Given the description of an element on the screen output the (x, y) to click on. 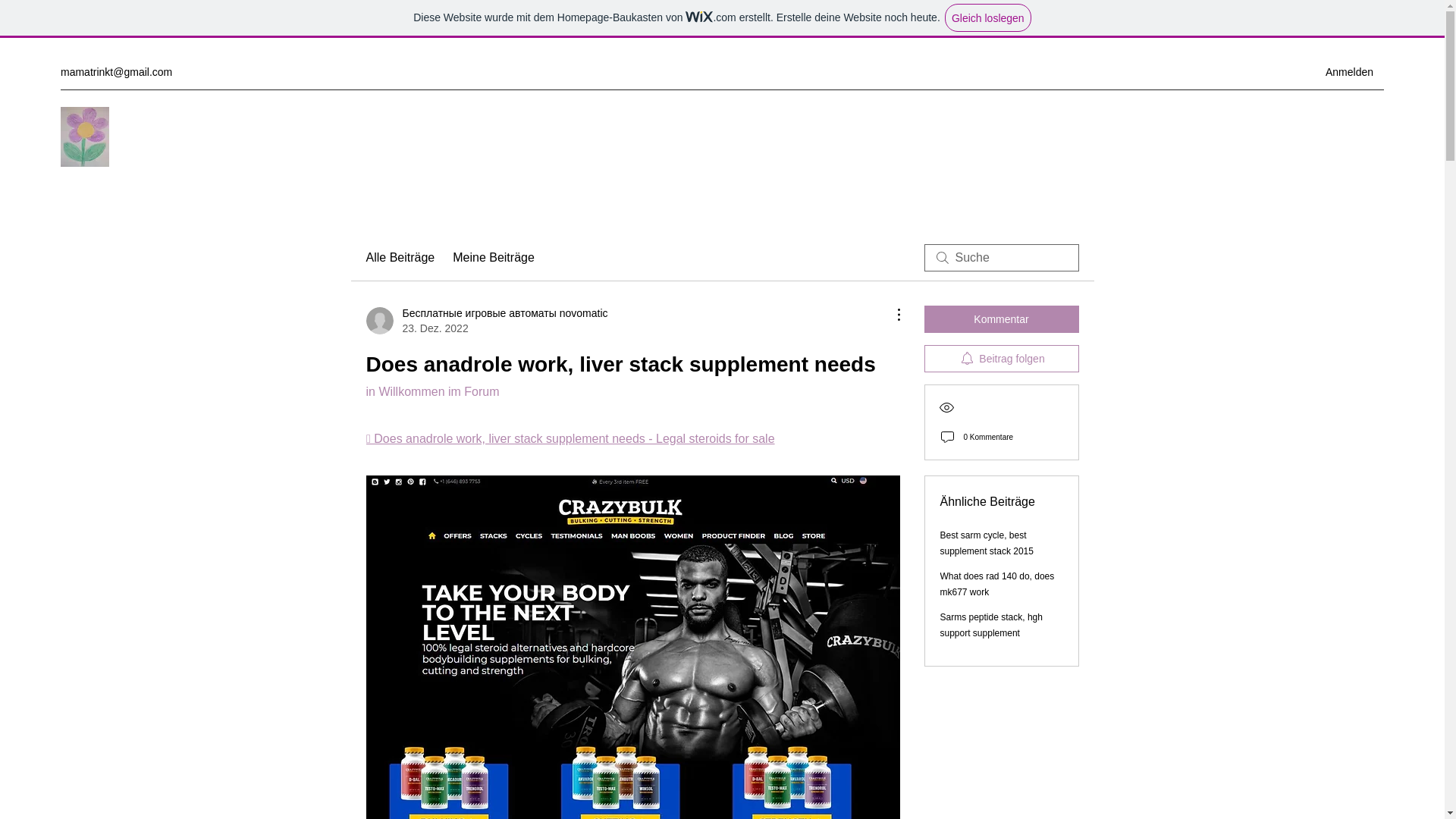
in Willkommen im Forum (432, 391)
Kommentar (1000, 318)
Sarms peptide stack, hgh support supplement (991, 624)
Beitrag folgen (1000, 358)
Anmelden (1349, 72)
What does rad 140 do, does mk677 work (997, 583)
Best sarm cycle, best supplement stack 2015 (986, 542)
